Given the description of an element on the screen output the (x, y) to click on. 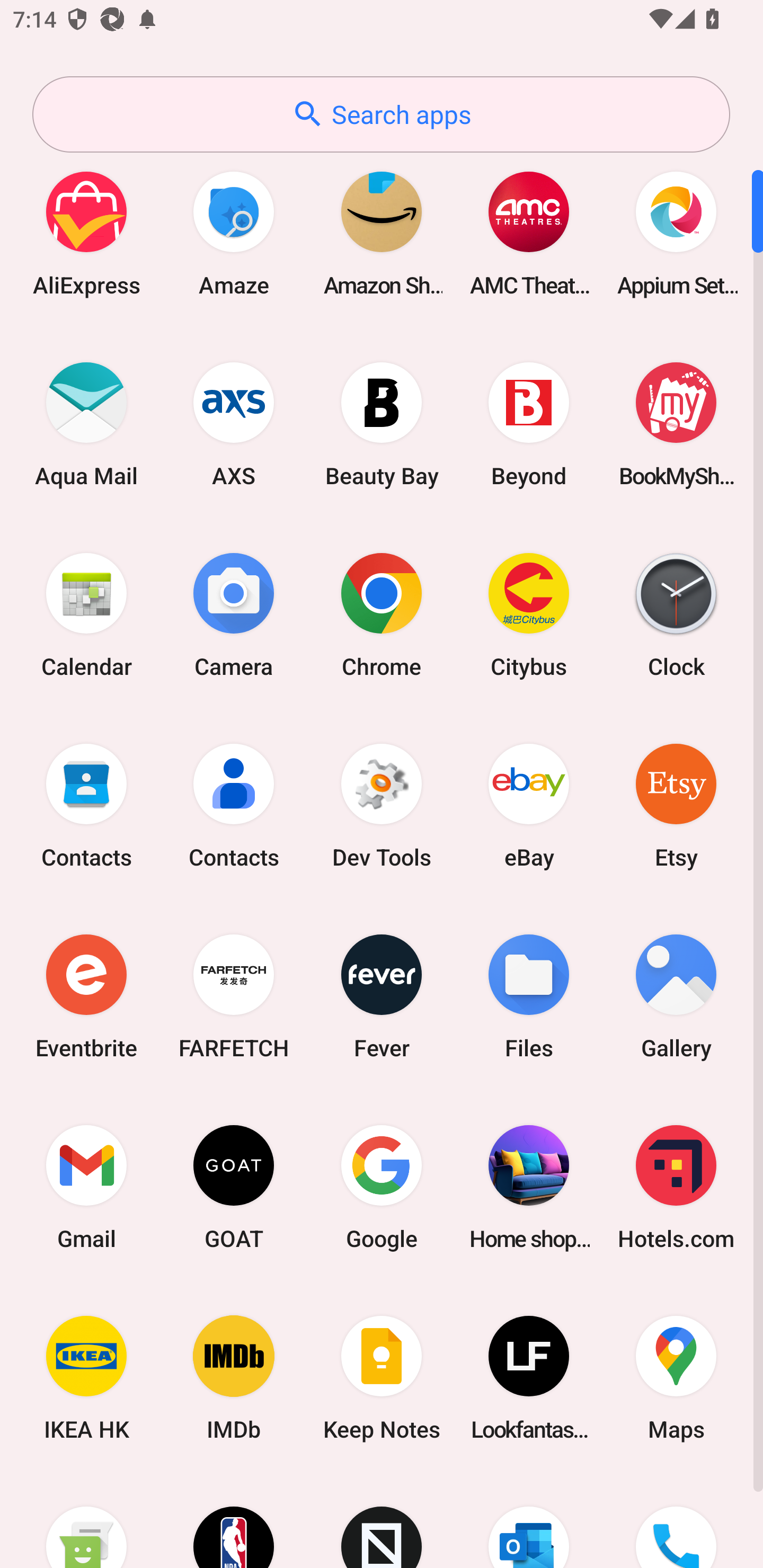
  Search apps (381, 114)
AliExpress (86, 233)
Amaze (233, 233)
Amazon Shopping (381, 233)
AMC Theatres (528, 233)
Appium Settings (676, 233)
Aqua Mail (86, 424)
AXS (233, 424)
Beauty Bay (381, 424)
Beyond (528, 424)
BookMyShow (676, 424)
Calendar (86, 614)
Camera (233, 614)
Chrome (381, 614)
Citybus (528, 614)
Clock (676, 614)
Contacts (86, 805)
Contacts (233, 805)
Dev Tools (381, 805)
eBay (528, 805)
Etsy (676, 805)
Eventbrite (86, 996)
FARFETCH (233, 996)
Fever (381, 996)
Files (528, 996)
Gallery (676, 996)
Gmail (86, 1186)
GOAT (233, 1186)
Google (381, 1186)
Home shopping (528, 1186)
Hotels.com (676, 1186)
IKEA HK (86, 1377)
IMDb (233, 1377)
Keep Notes (381, 1377)
Lookfantastic (528, 1377)
Maps (676, 1377)
